Given the description of an element on the screen output the (x, y) to click on. 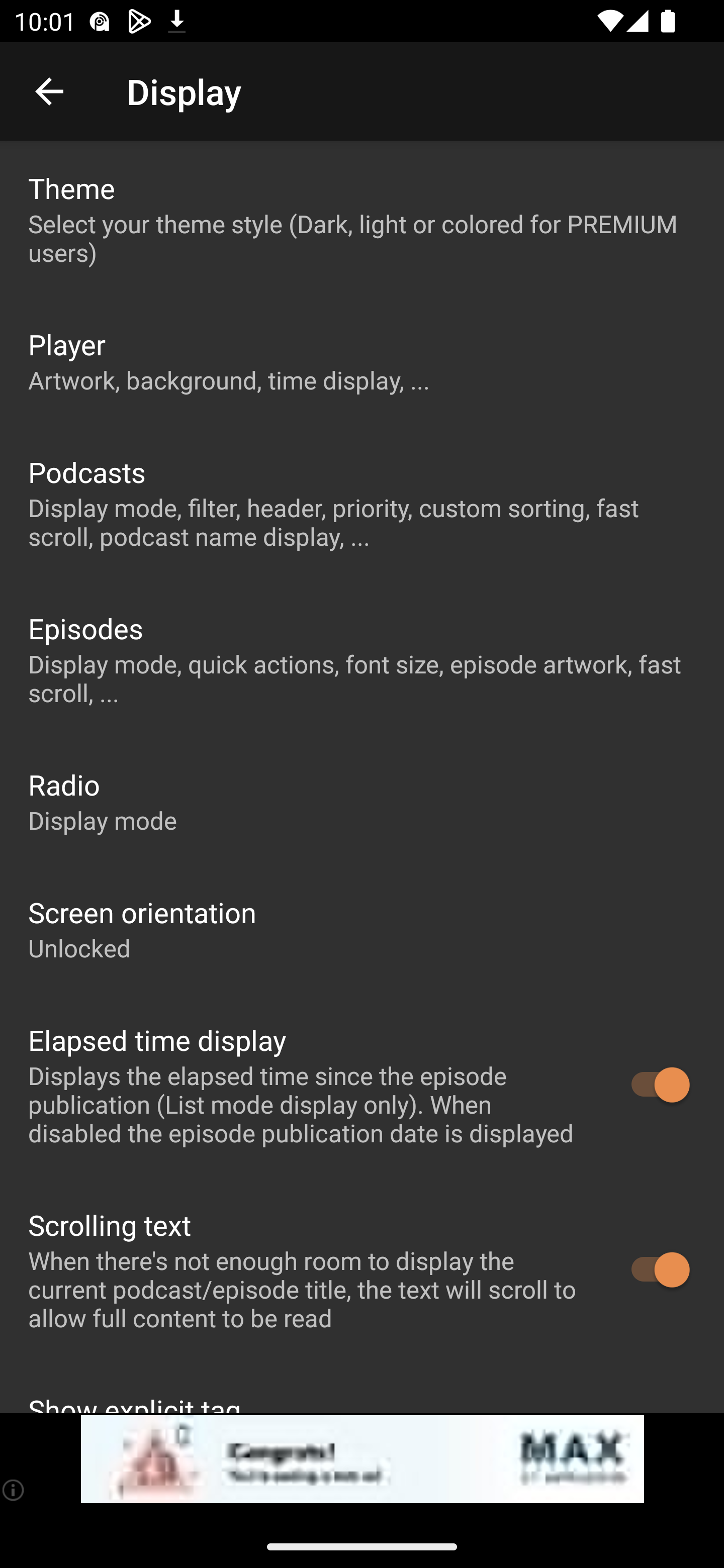
Navigate up (49, 91)
Player Artwork, background, time display, ... (362, 360)
Radio Display mode (362, 800)
Screen orientation Unlocked (362, 928)
app-monetization (362, 1459)
(i) (14, 1489)
